Given the description of an element on the screen output the (x, y) to click on. 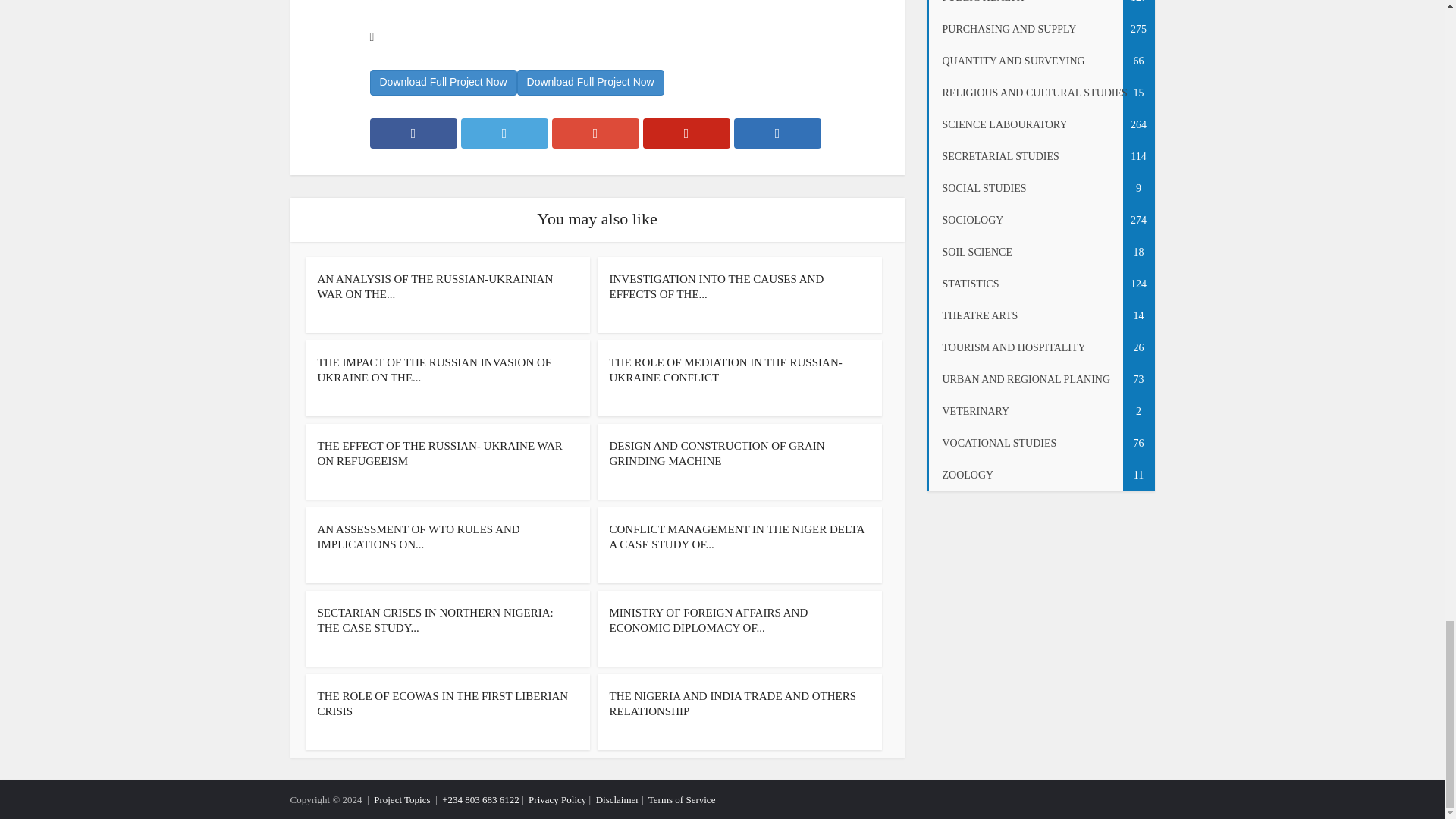
THE NIGERIA AND INDIA TRADE AND OTHERS RELATIONSHIP (733, 703)
THE EFFECT OF THE RUSSIAN- UKRAINE WAR ON REFUGEEISM (439, 452)
THE ROLE OF MEDIATION IN THE RUSSIAN- UKRAINE CONFLICT (726, 370)
Download Full Project Now (589, 82)
THE NIGERIA AND INDIA TRADE AND OTHERS RELATIONSHIP (733, 703)
MINISTRY OF FOREIGN AFFAIRS AND ECONOMIC DIPLOMACY OF... (709, 619)
INVESTIGATION INTO THE CAUSES AND EFFECTS OF THE... (717, 286)
Download Full Project Now (442, 82)
